Given the description of an element on the screen output the (x, y) to click on. 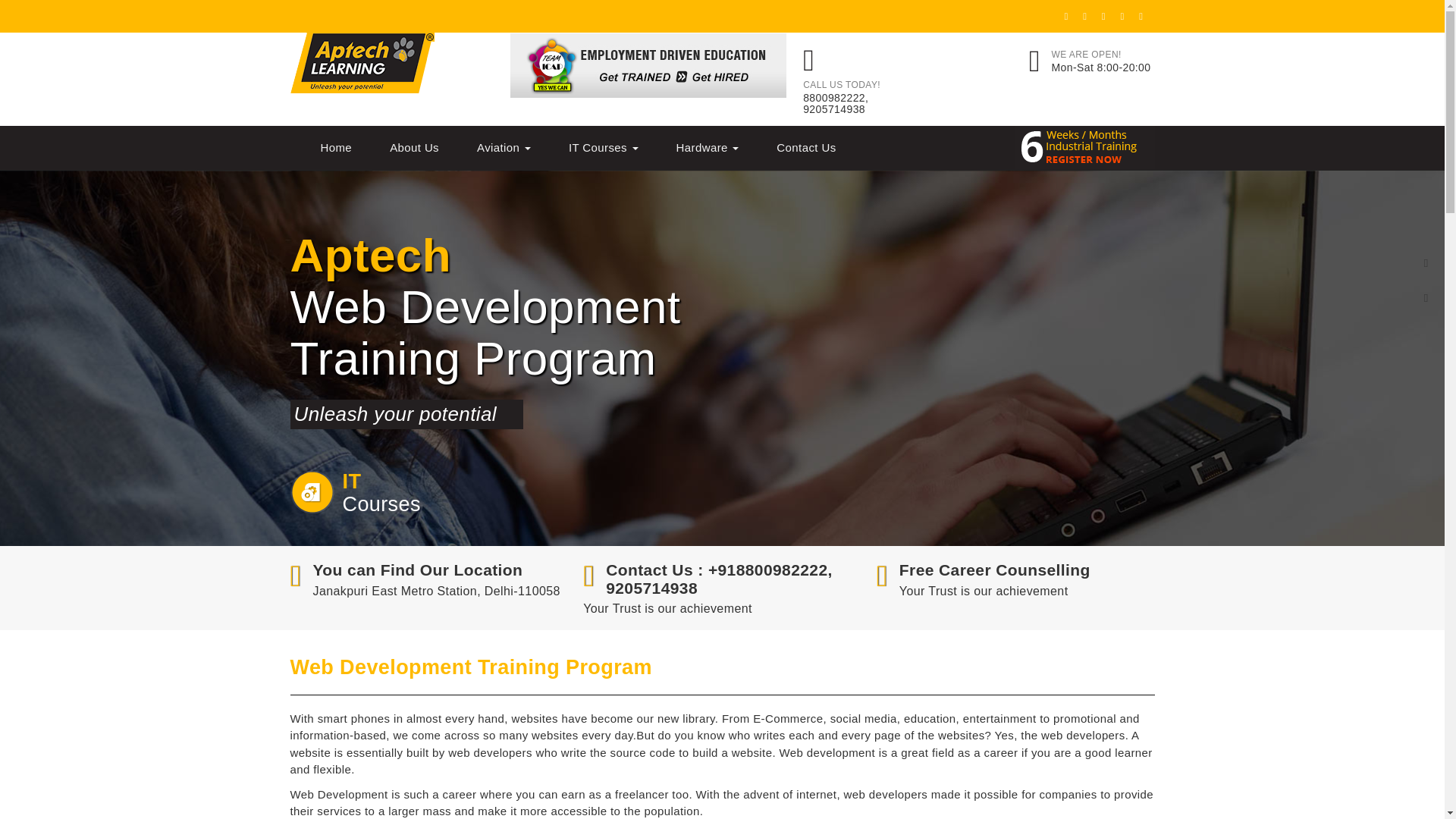
CALL US TODAY! (841, 83)
WE ARE OPEN! (1086, 53)
Home (336, 147)
About Us (414, 147)
IT  Courses  (604, 147)
IT Courses (604, 147)
Aviation (504, 147)
Home (336, 147)
About Us (414, 147)
Hardware (708, 147)
